Given the description of an element on the screen output the (x, y) to click on. 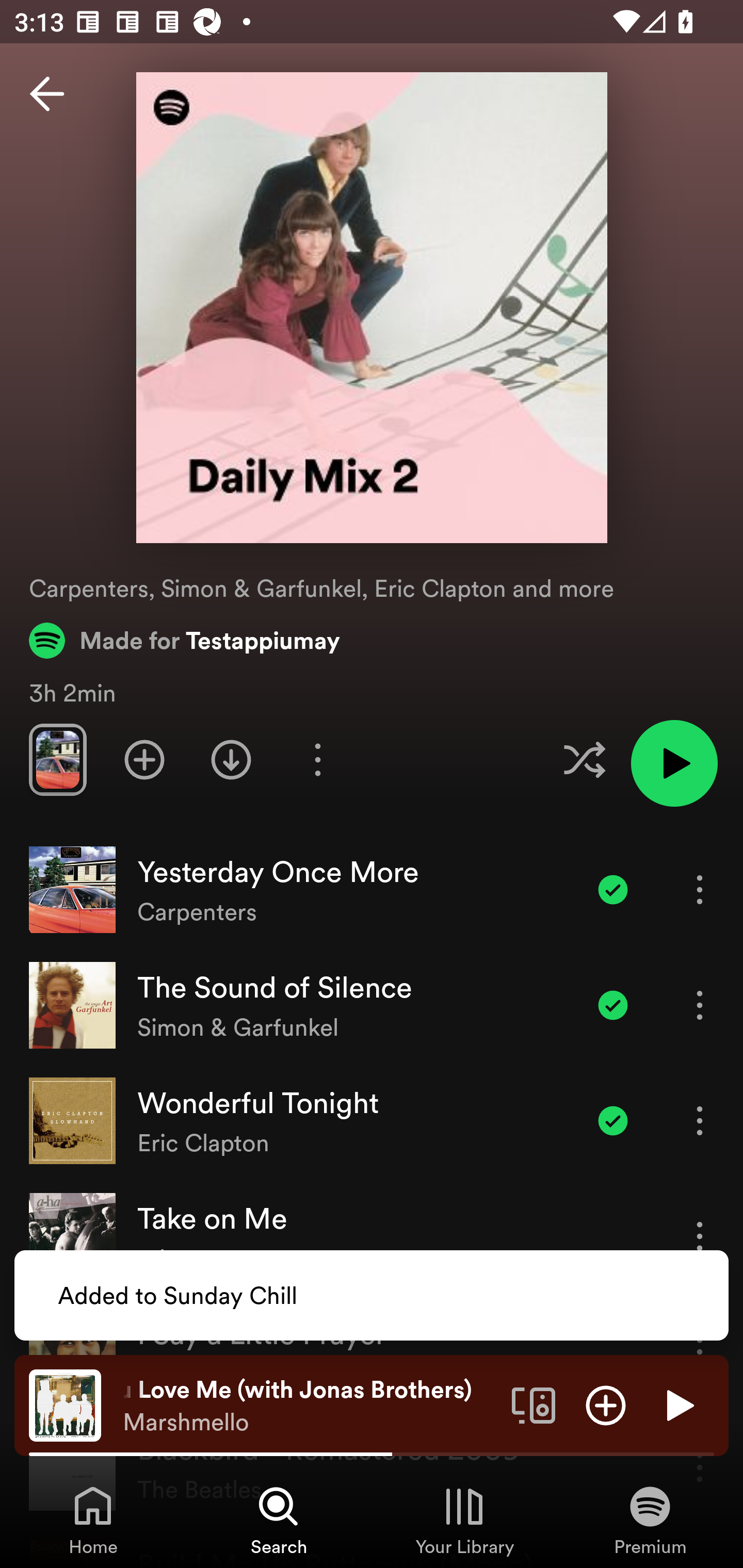
Back (46, 93)
Made for Testappiumay (184, 640)
Swipe through previews of tracks in this playlist. (57, 759)
Add playlist to Your Library (144, 759)
Download (230, 759)
More options for playlist Daily Mix 2 (317, 759)
Enable shuffle for this playlist (583, 759)
Play playlist (674, 763)
Item added (612, 889)
More options for song Yesterday Once More (699, 889)
Item added (612, 1004)
More options for song The Sound of Silence (699, 1004)
Item added (612, 1120)
More options for song Wonderful Tonight (699, 1120)
Take on Me a-ha More options for song Take on Me (371, 1236)
More options for song Take on Me (699, 1236)
